Given the description of an element on the screen output the (x, y) to click on. 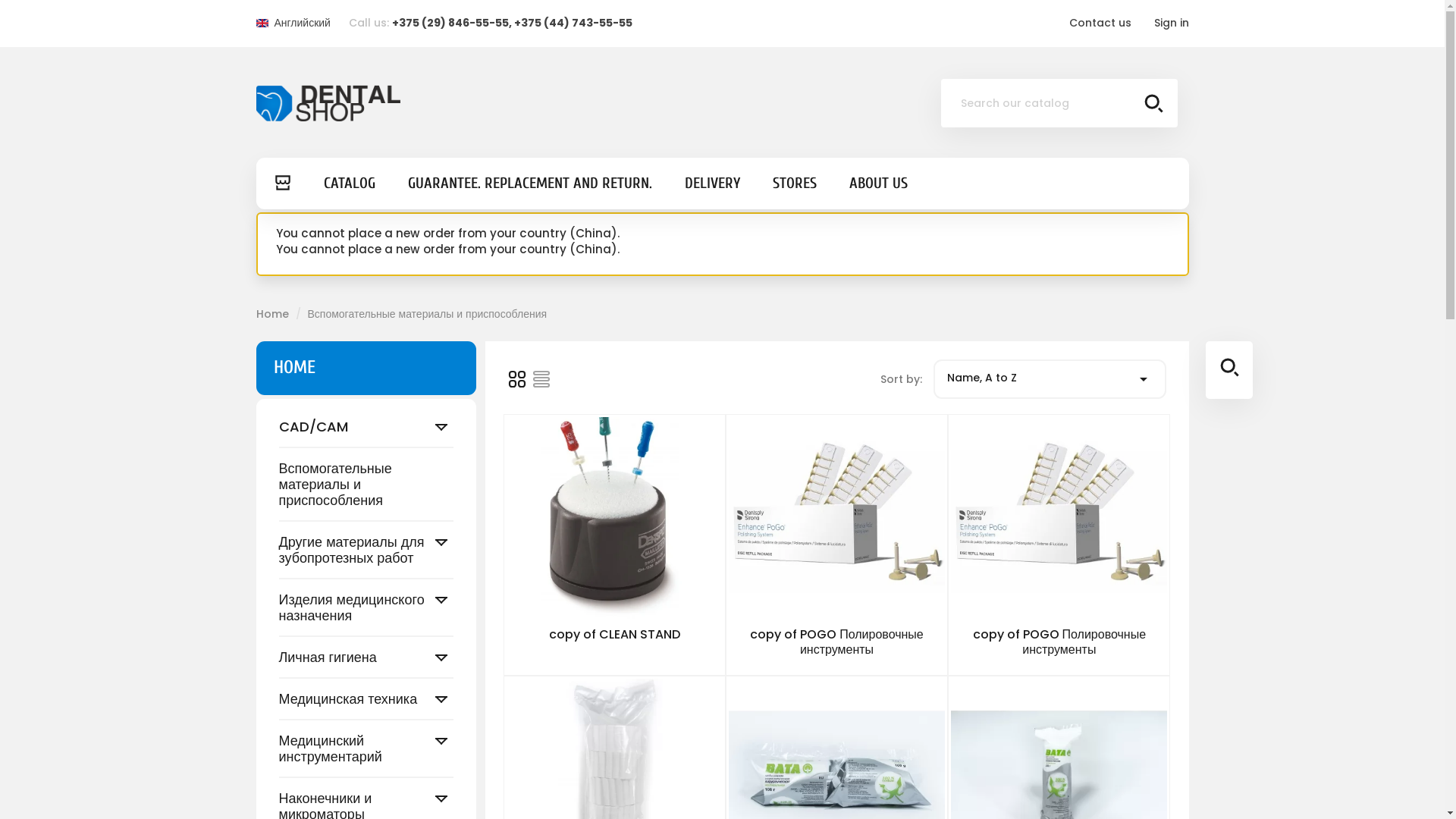
Home Element type: text (273, 313)
Contact us Element type: text (1100, 22)
STORES Element type: text (793, 183)
copy of CLEAN STAND Element type: text (614, 634)
ABOUT US Element type: text (878, 183)
CATALOG Element type: text (348, 183)
Sign in Element type: text (1171, 22)
CAD/CAM Element type: text (366, 427)
HOME Element type: text (293, 367)
DELIVERY Element type: text (711, 183)
GUARANTEE. REPLACEMENT AND RETURN. Element type: text (529, 183)
